Given the description of an element on the screen output the (x, y) to click on. 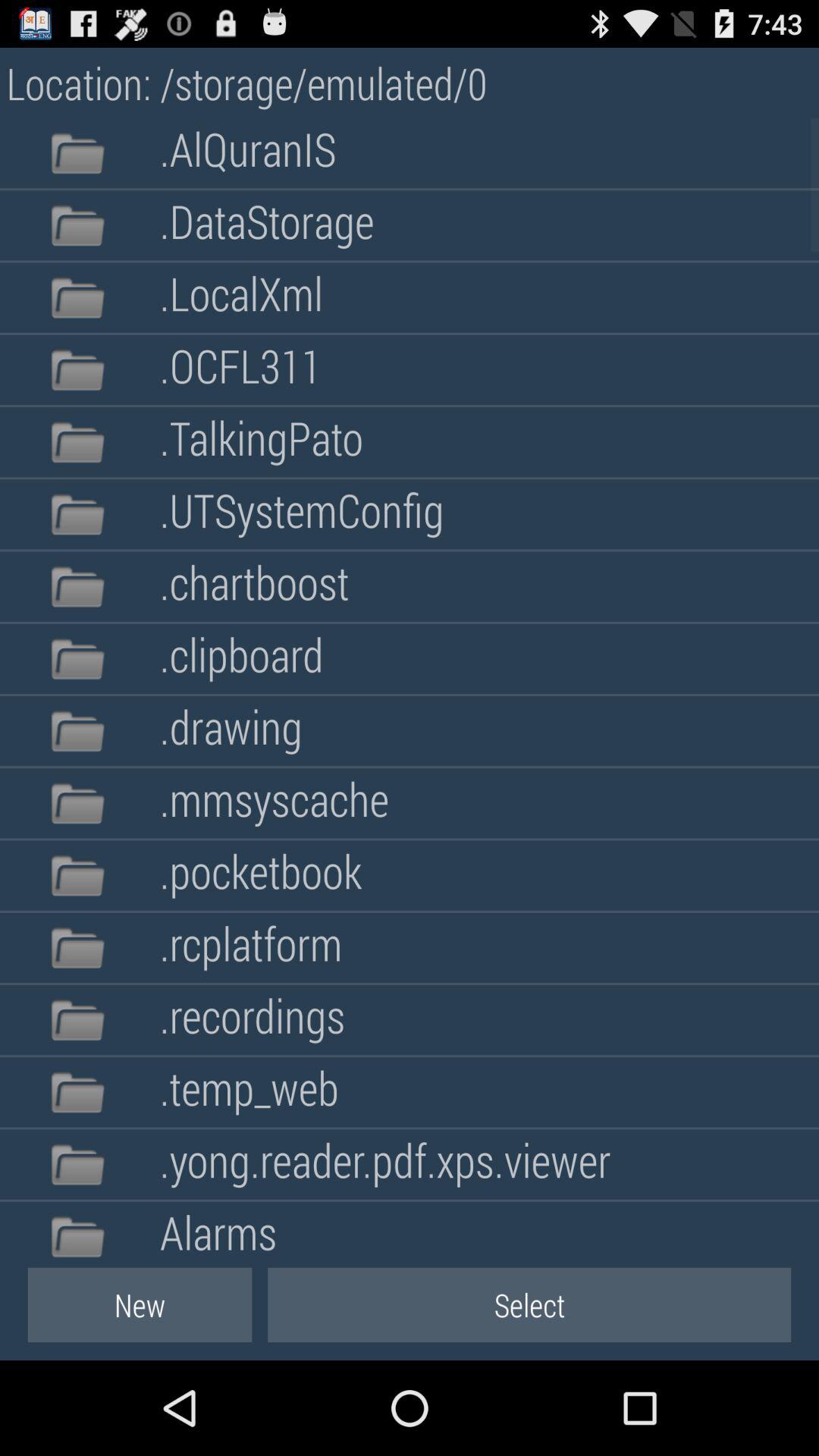
flip until .drawing (230, 731)
